Given the description of an element on the screen output the (x, y) to click on. 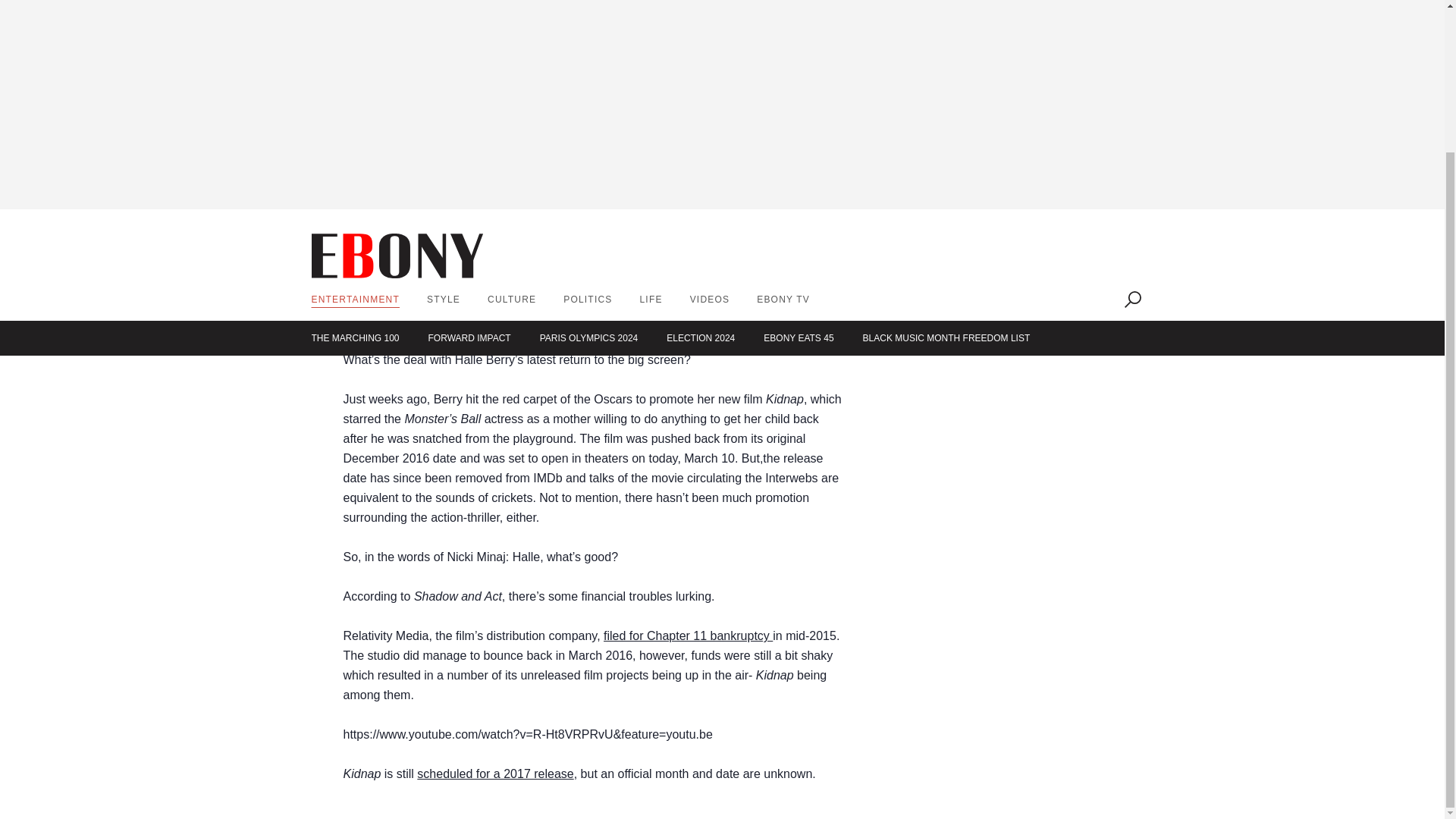
LIFE (650, 122)
EBONY TV (783, 122)
VIDEOS (710, 122)
Entertainment (354, 122)
Style (443, 122)
ENTERTAINMENT (354, 122)
Culture (511, 122)
POLITICS (587, 122)
CULTURE (511, 122)
STYLE (443, 122)
